Given the description of an element on the screen output the (x, y) to click on. 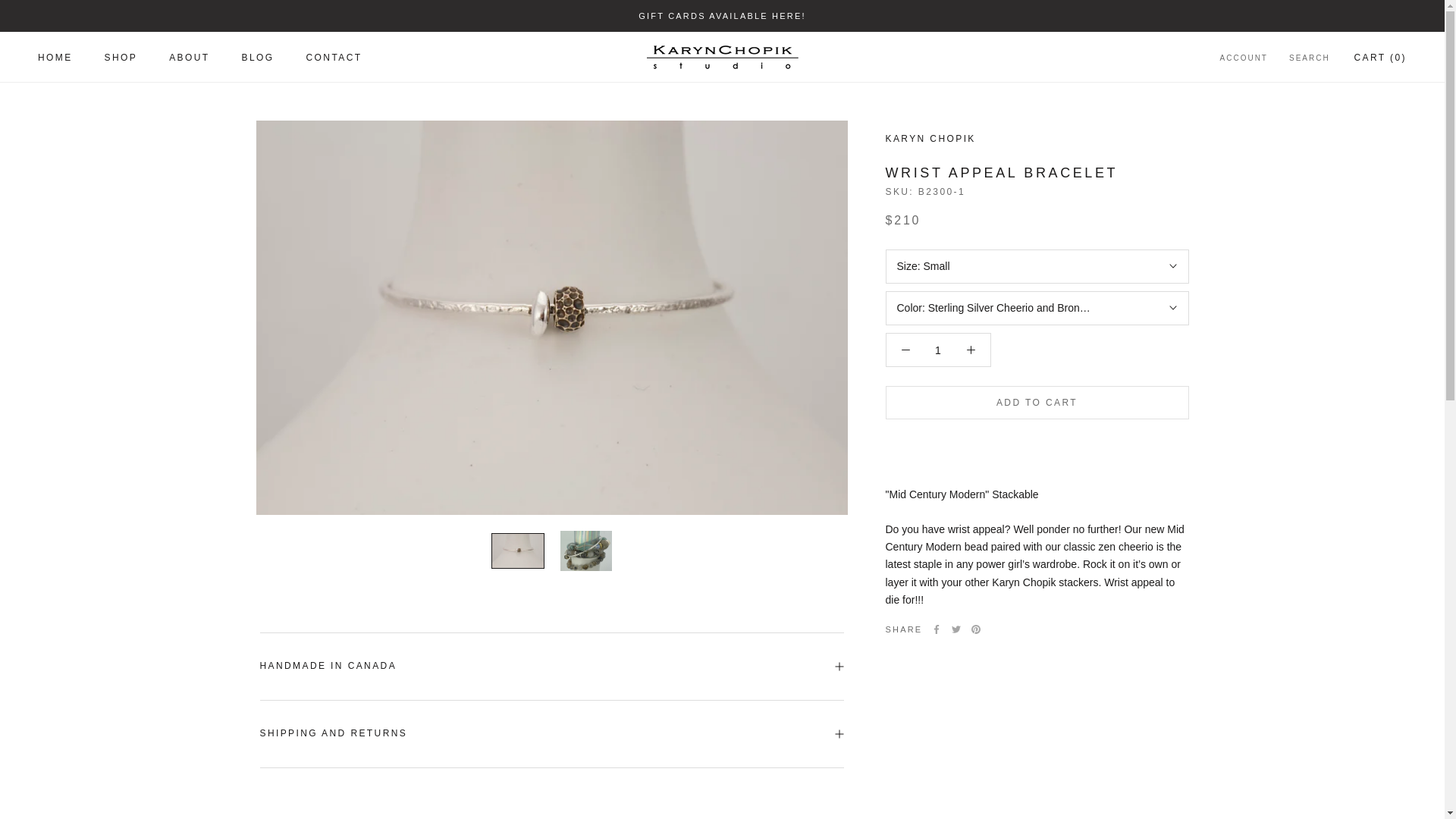
1 (938, 349)
GIFT CARDS AVAILABLE HERE! (722, 15)
